Given the description of an element on the screen output the (x, y) to click on. 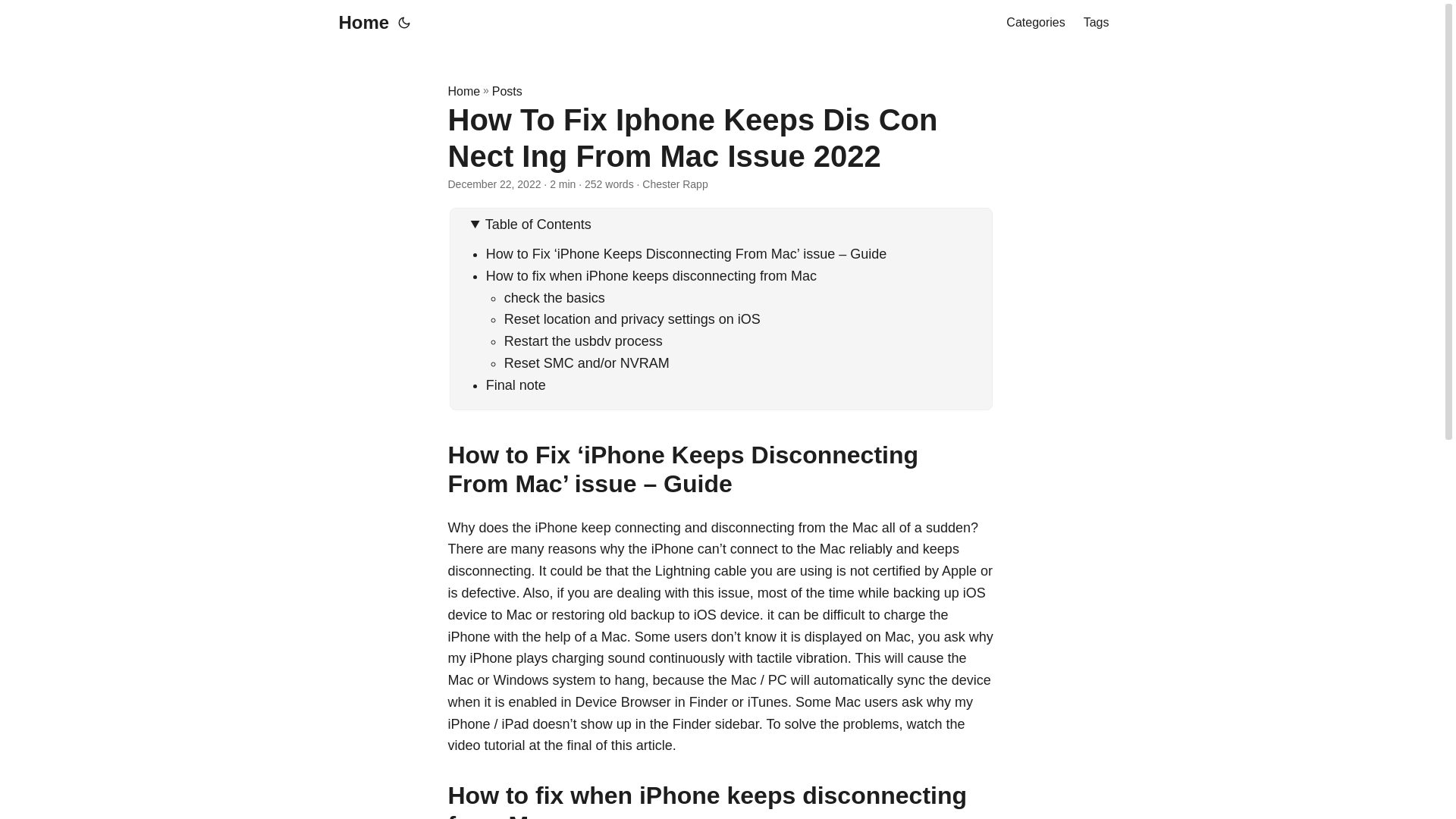
check the basics (554, 297)
Home (359, 22)
Categories (1035, 22)
Final note (516, 385)
Reset location and privacy settings on iOS (631, 319)
How to fix when iPhone keeps disconnecting from Mac (651, 275)
Categories (1035, 22)
Home (463, 91)
Restart the usbdv process (582, 340)
Posts (507, 91)
